Given the description of an element on the screen output the (x, y) to click on. 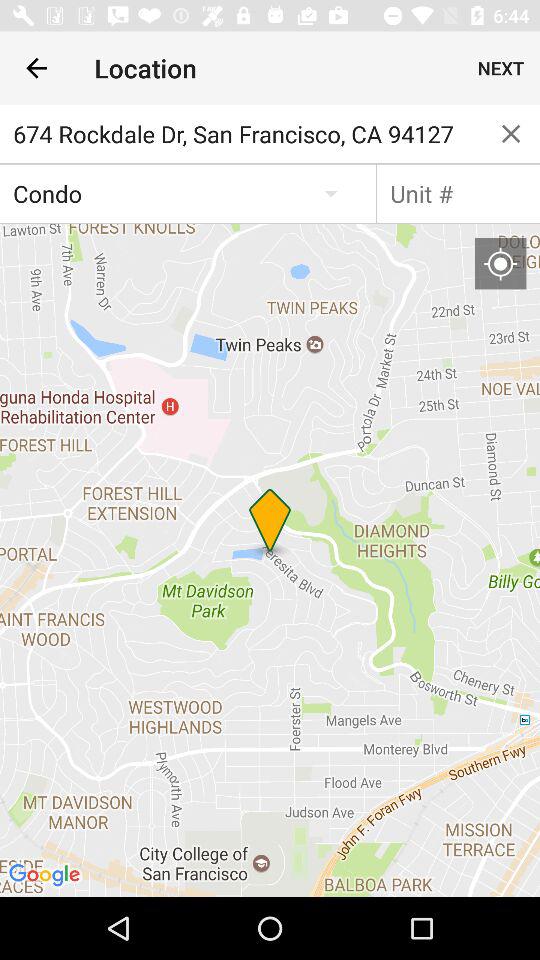
clear text (511, 133)
